Given the description of an element on the screen output the (x, y) to click on. 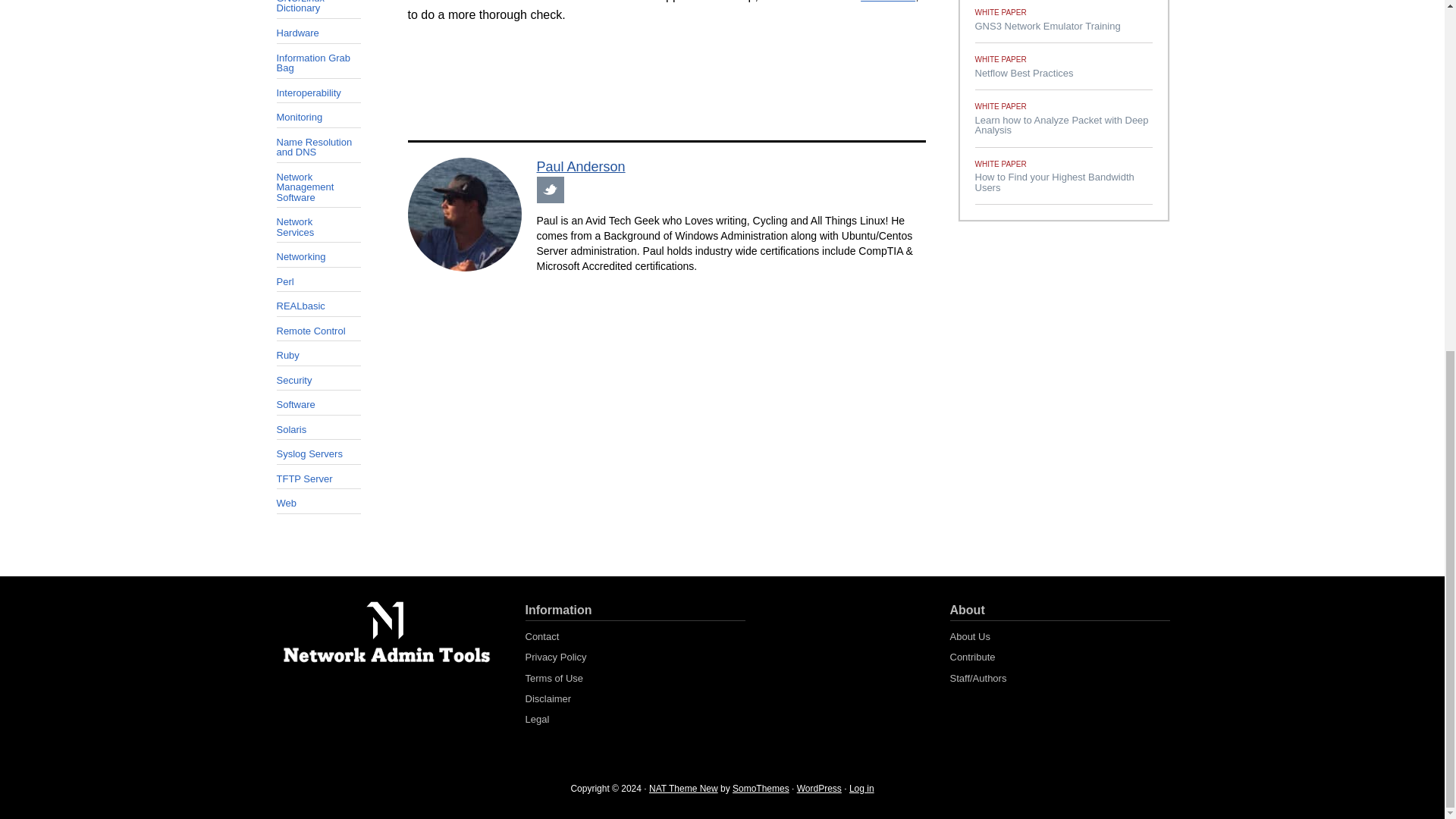
NAT Theme New (683, 787)
Paul Anderson (581, 166)
this article (887, 1)
SomoThemes (760, 787)
